Given the description of an element on the screen output the (x, y) to click on. 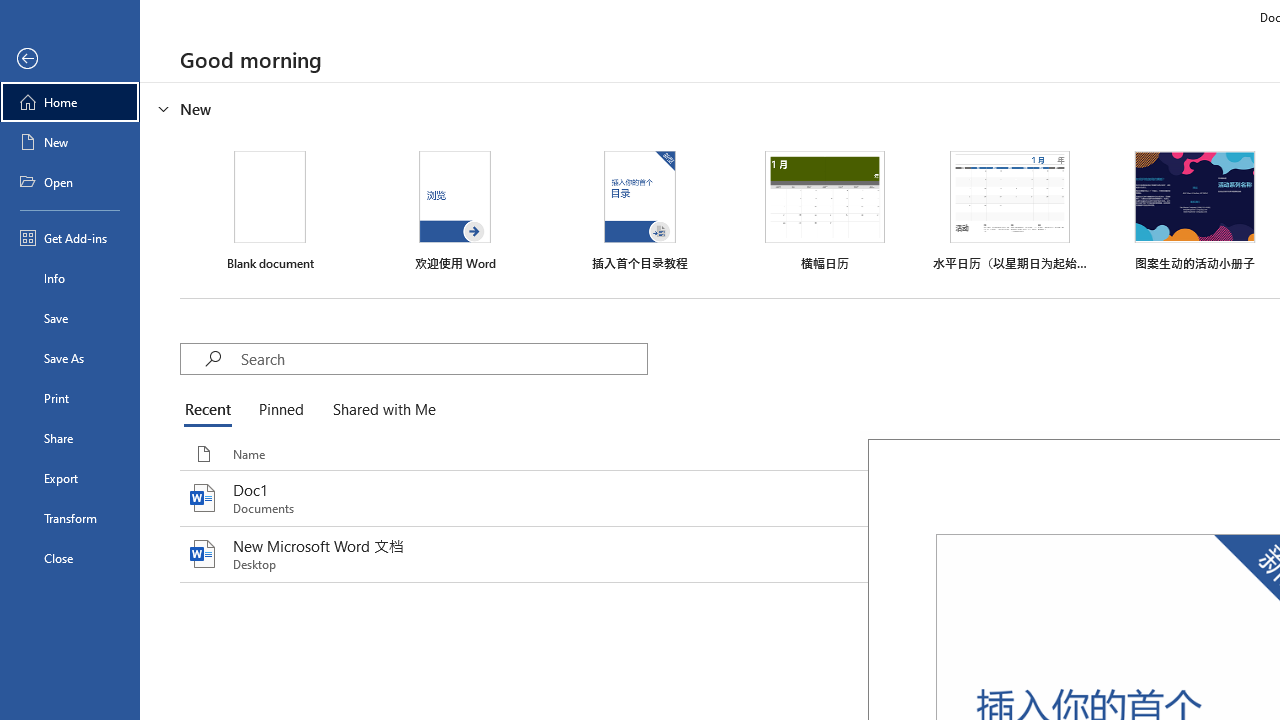
Print (69, 398)
Back (69, 59)
Save As (69, 357)
